Given the description of an element on the screen output the (x, y) to click on. 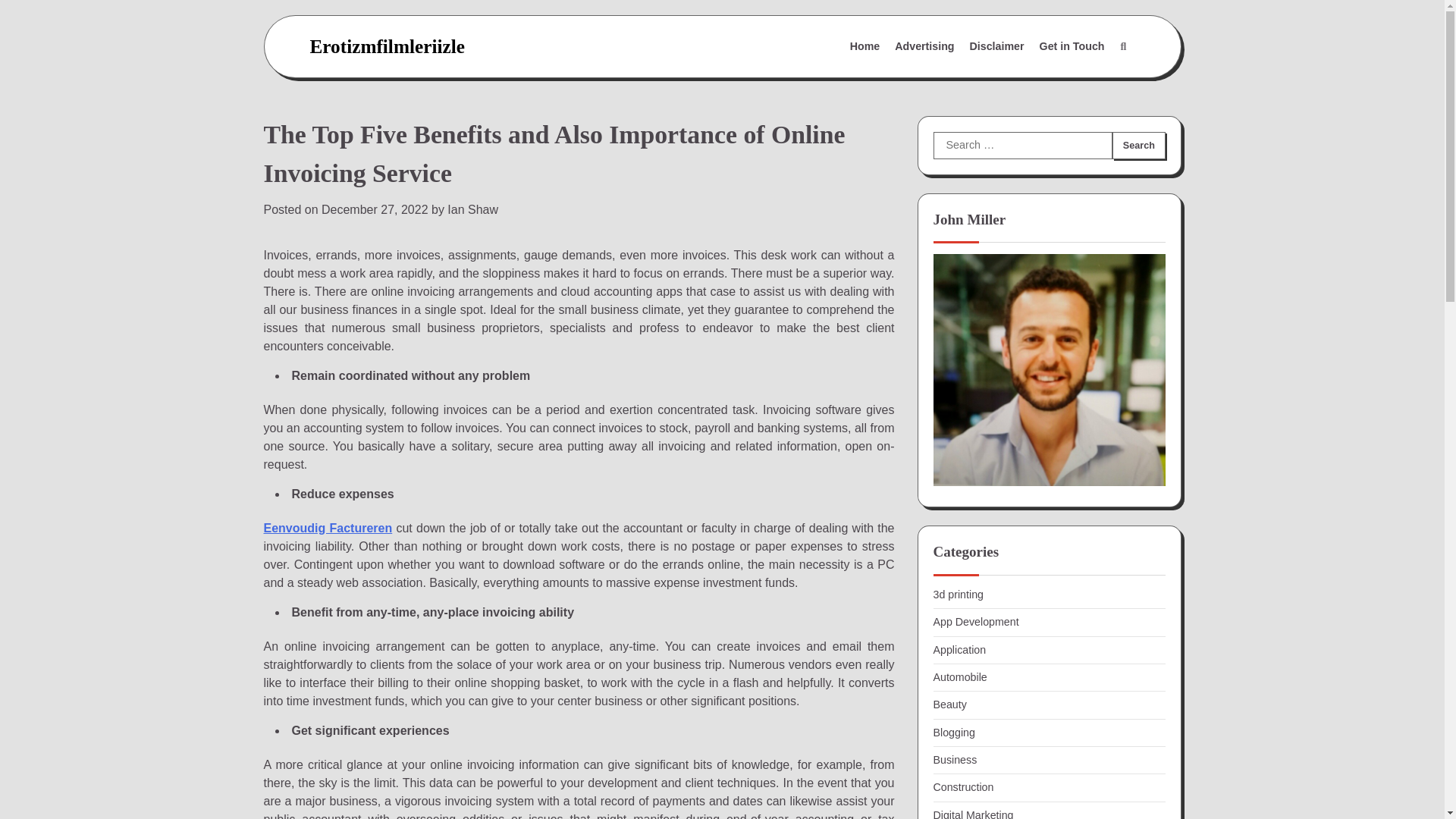
Disclaimer (997, 46)
Get in Touch (1072, 46)
Application (959, 649)
December 27, 2022 (374, 209)
Home (865, 46)
Search (1086, 83)
Ian Shaw (471, 209)
Digital Marketing (973, 814)
Beauty (949, 704)
3d printing (957, 594)
Advertising (923, 46)
App Development (975, 621)
Business (954, 759)
Blogging (953, 732)
Search (1138, 144)
